Given the description of an element on the screen output the (x, y) to click on. 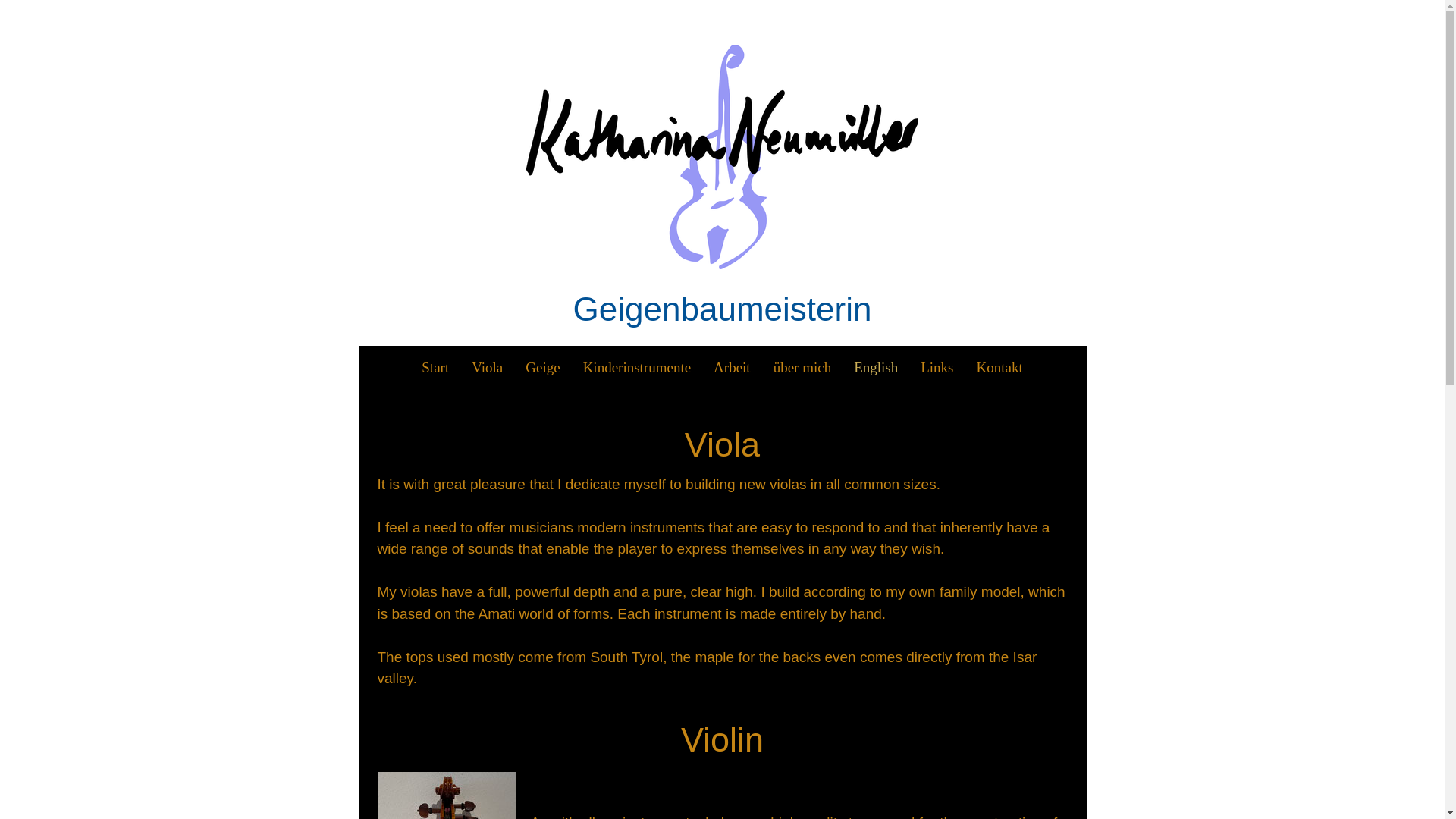
Kontakt (998, 367)
Arbeit (731, 367)
Geigenbaumeisterin (722, 308)
Kinderinstrumente (636, 367)
Links (935, 367)
English (875, 367)
Viola (486, 367)
Geige (541, 367)
Start (435, 367)
